Given the description of an element on the screen output the (x, y) to click on. 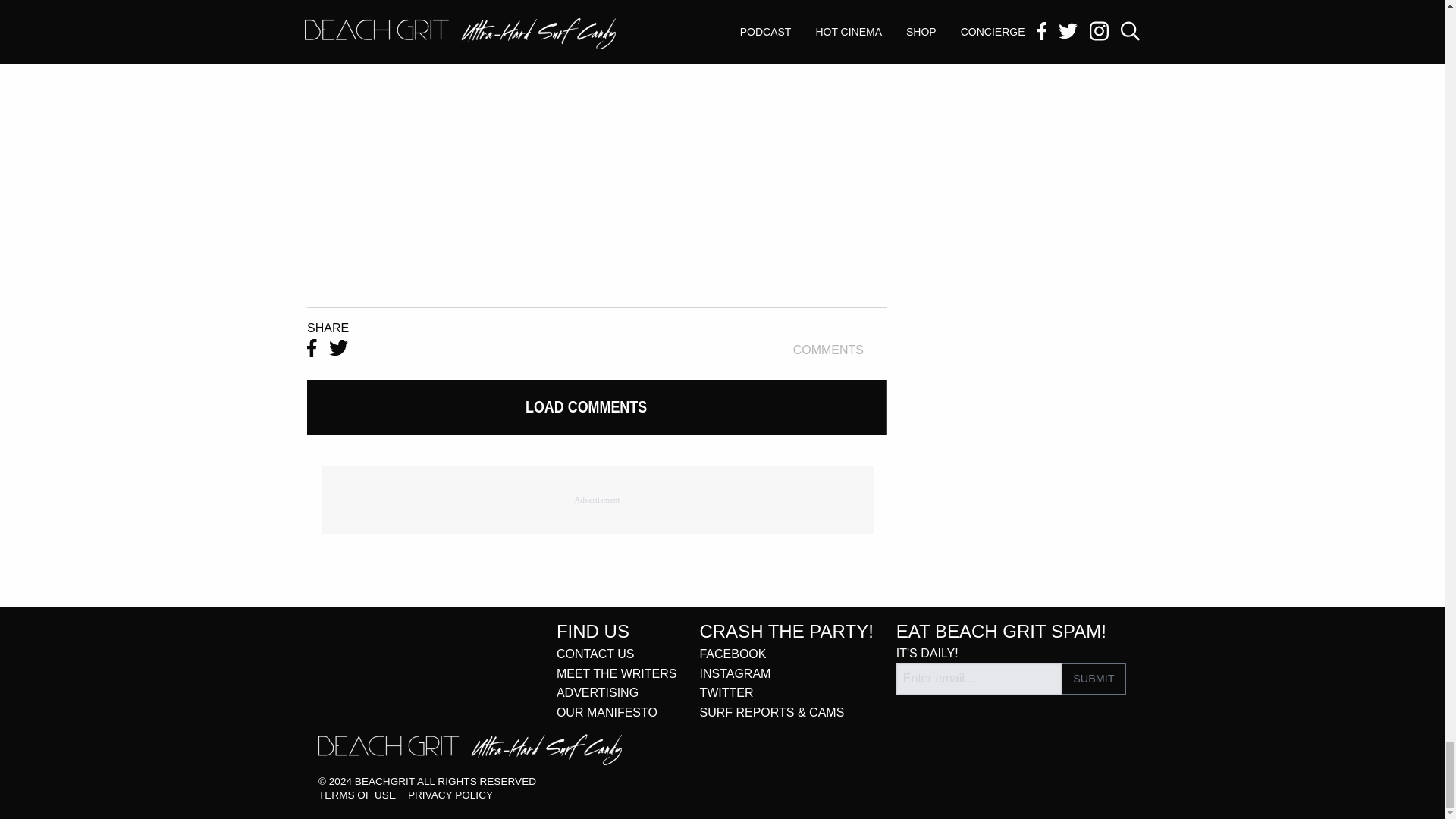
BG-LOGO (469, 749)
Submit (1093, 678)
